Given the description of an element on the screen output the (x, y) to click on. 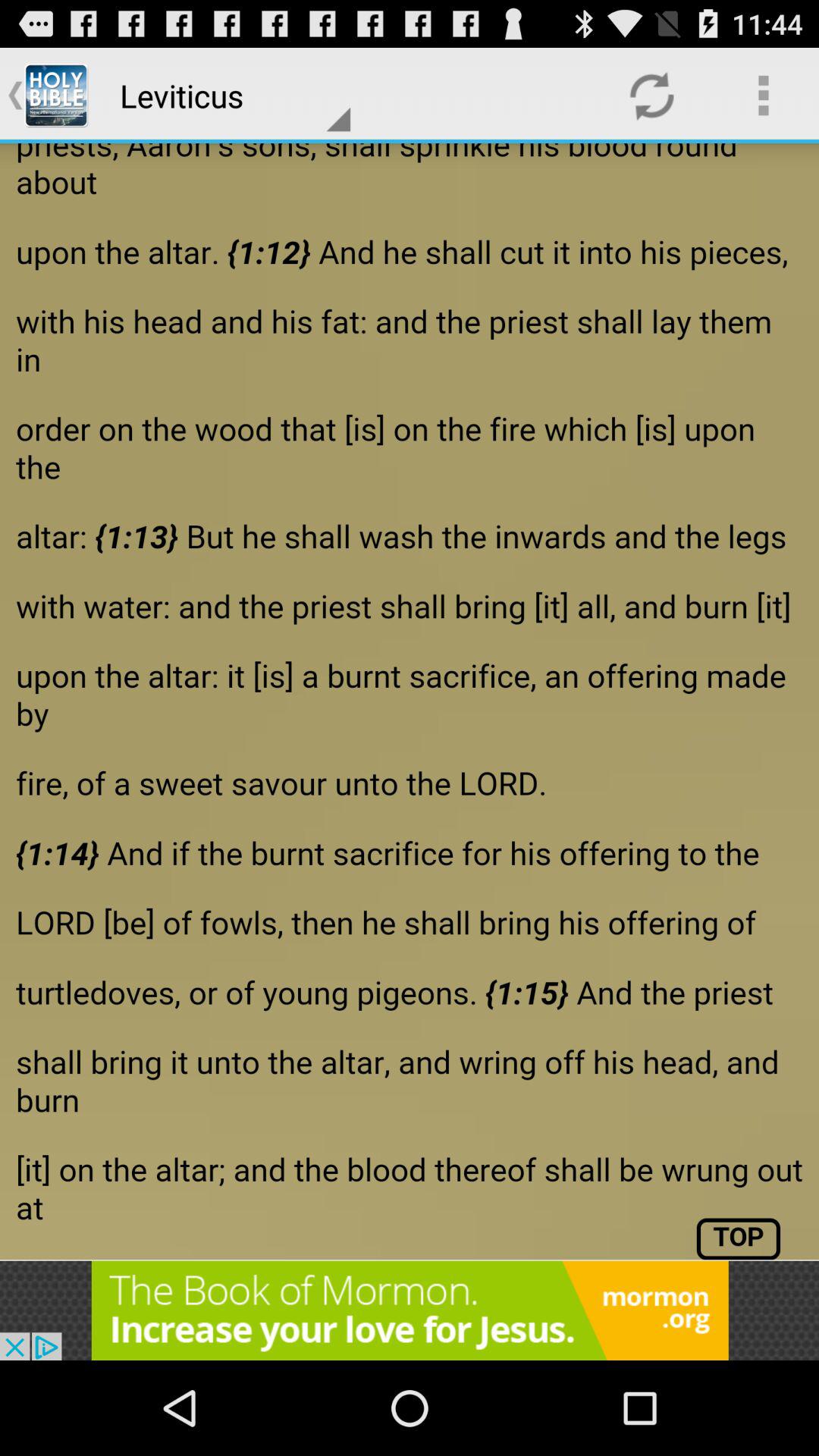
advertisement (409, 1310)
